Given the description of an element on the screen output the (x, y) to click on. 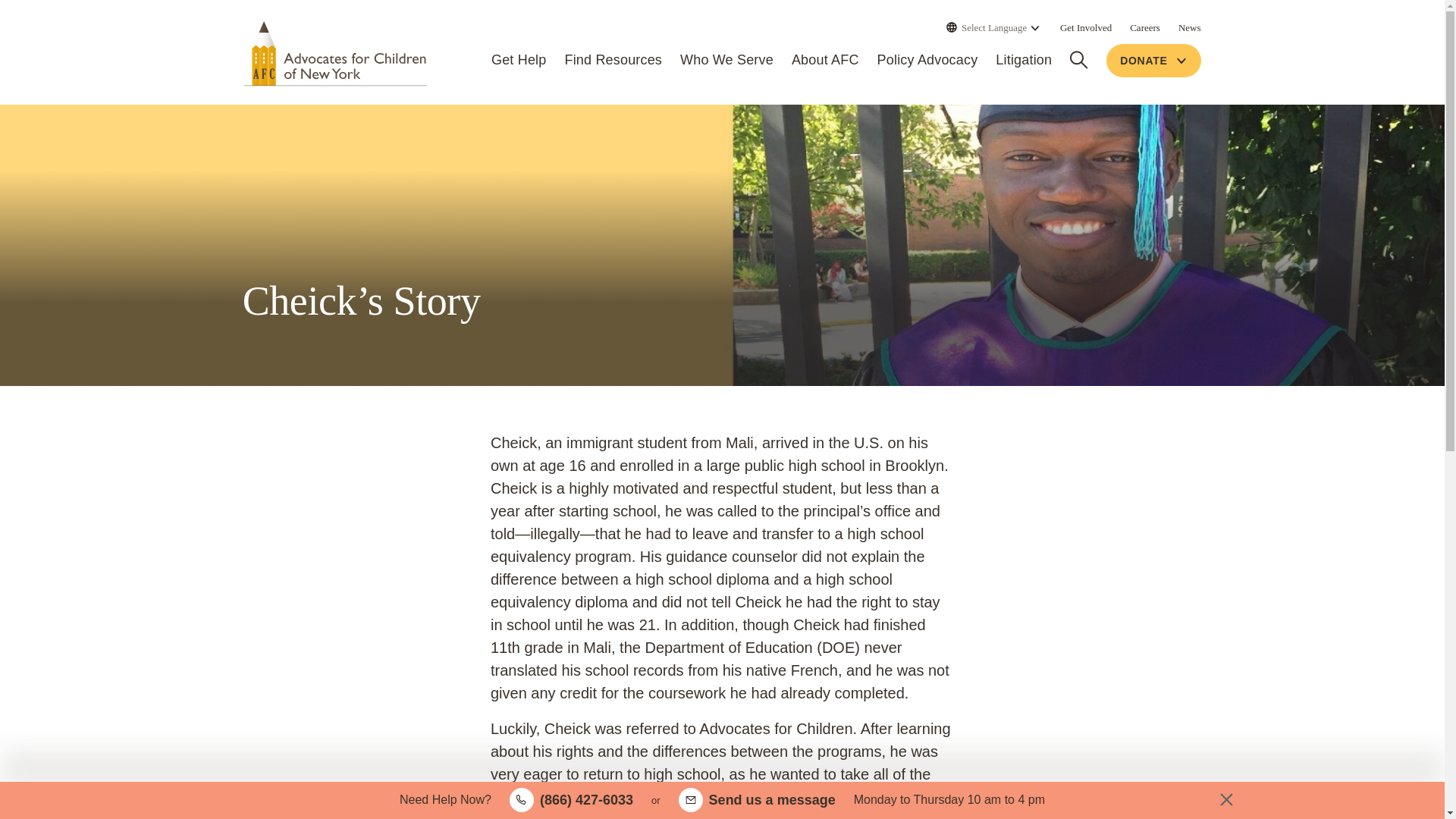
Who We Serve (726, 60)
DONATE (1152, 60)
DONATE (1152, 60)
Get Help (519, 60)
Advocates for Children of New York (335, 53)
Find Resources (613, 60)
Careers (1144, 27)
Policy Advocacy (927, 60)
Litigation (1023, 60)
News (1189, 27)
Get Involved (1085, 27)
About AFC (825, 60)
